Given the description of an element on the screen output the (x, y) to click on. 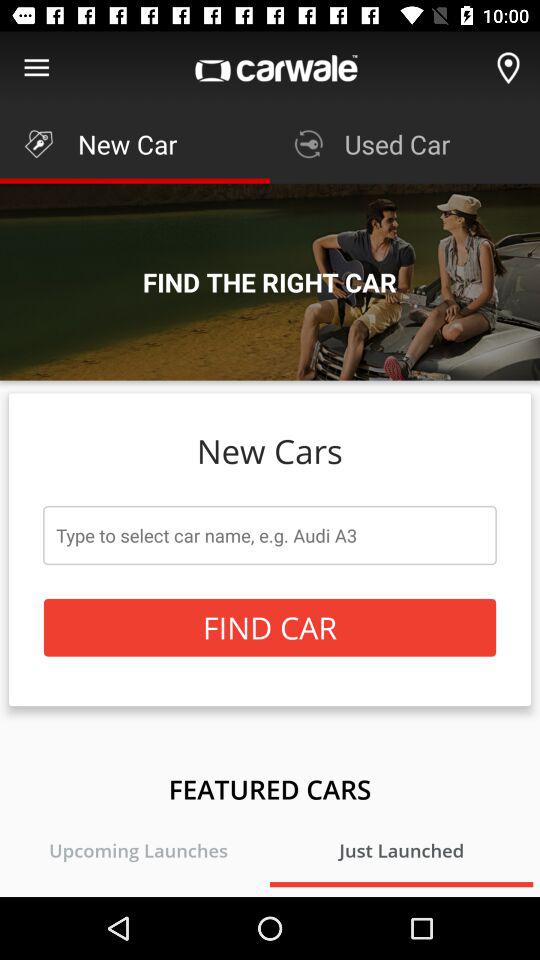
funo que abre outras configuraes (36, 68)
